Given the description of an element on the screen output the (x, y) to click on. 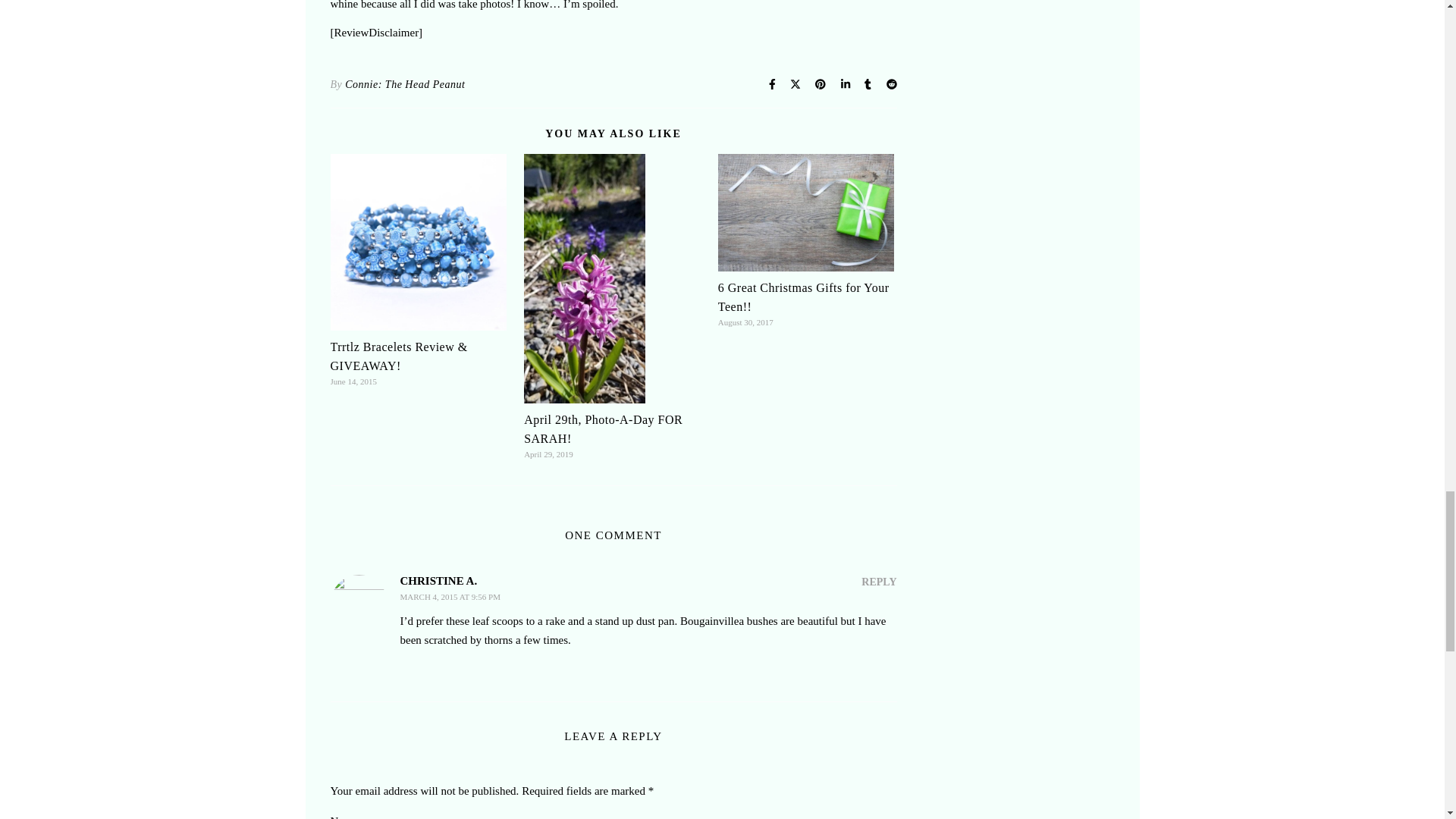
Posts by Connie: The Head Peanut (404, 84)
